Given the description of an element on the screen output the (x, y) to click on. 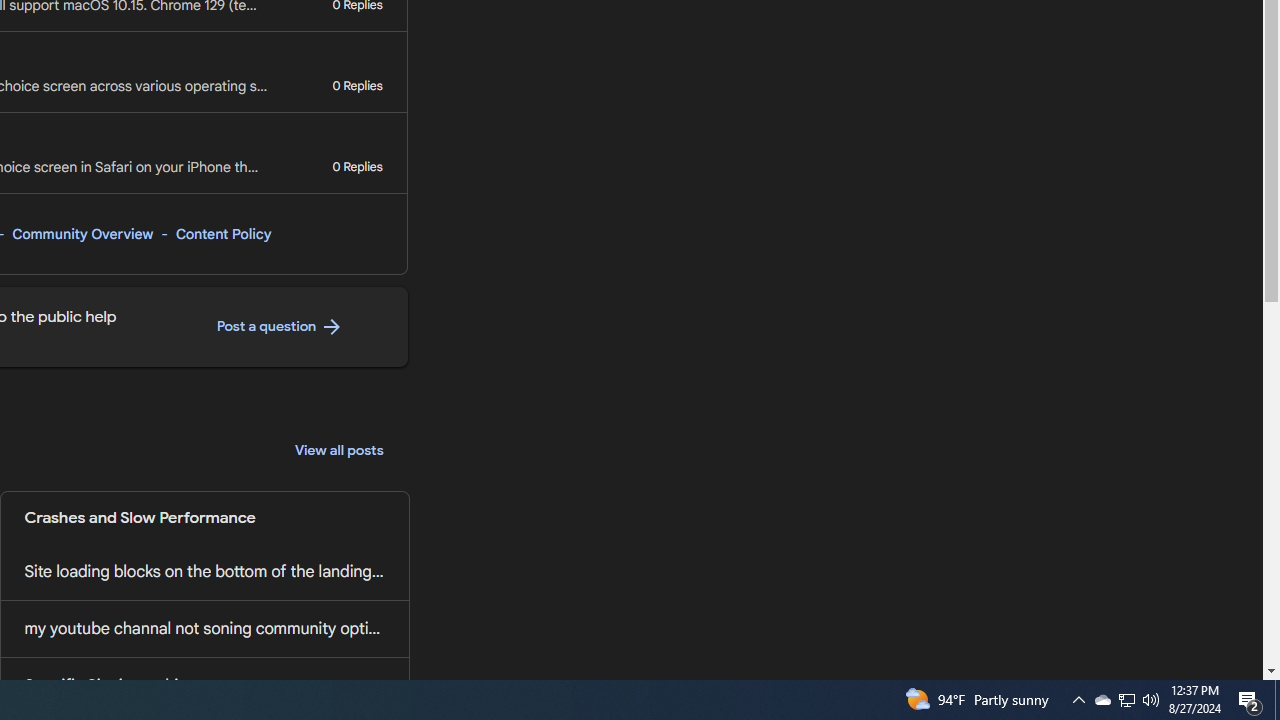
Community Overview (82, 233)
Post a question  (280, 327)
View all posts (339, 450)
Content Policy (223, 233)
